Given the description of an element on the screen output the (x, y) to click on. 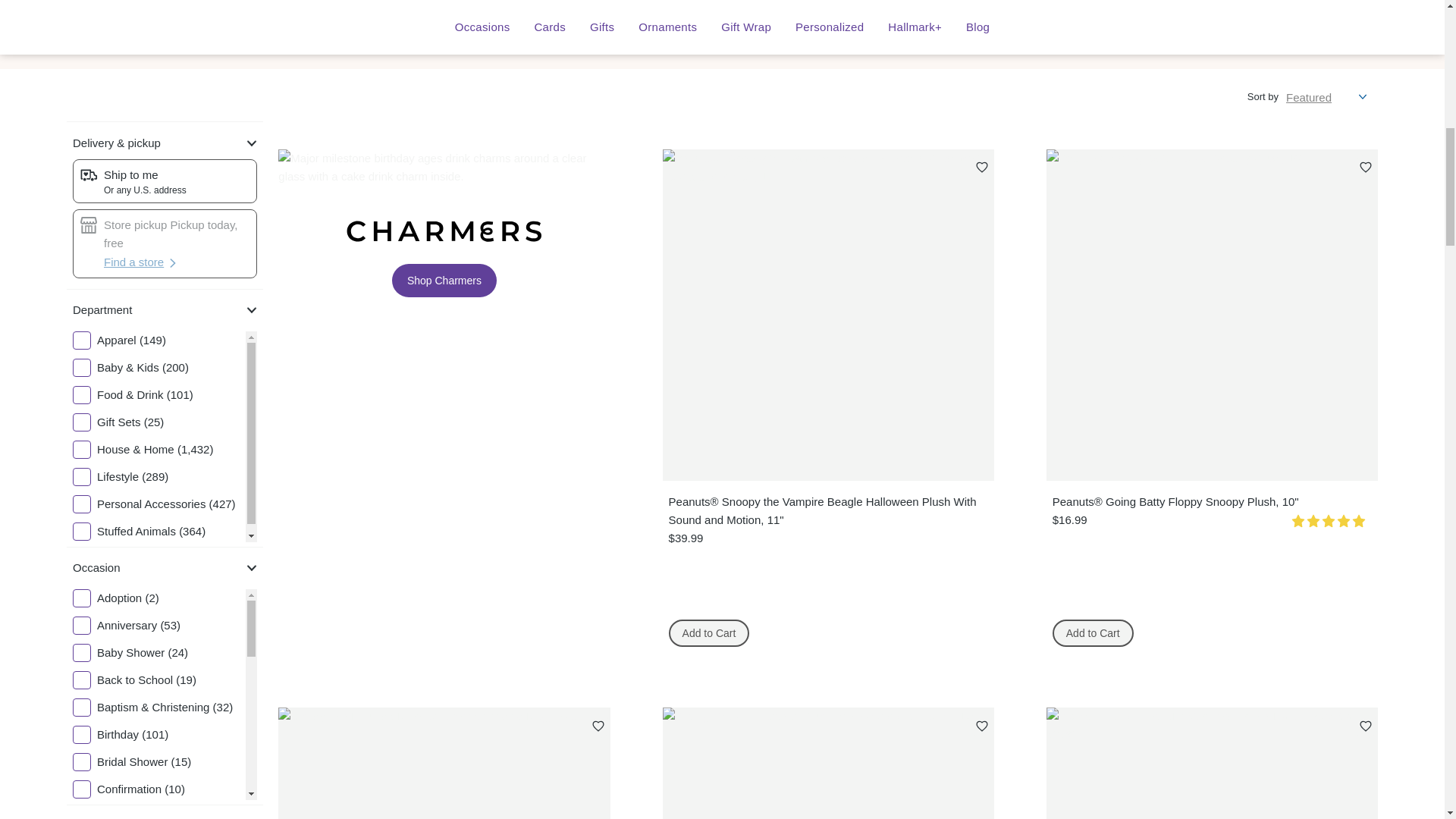
 Refine by Buyable Channel: store-pickup (165, 234)
 Refine by Buyable Channel: ship-to-me (165, 181)
 Refine by Department: Apparel (159, 340)
